Given the description of an element on the screen output the (x, y) to click on. 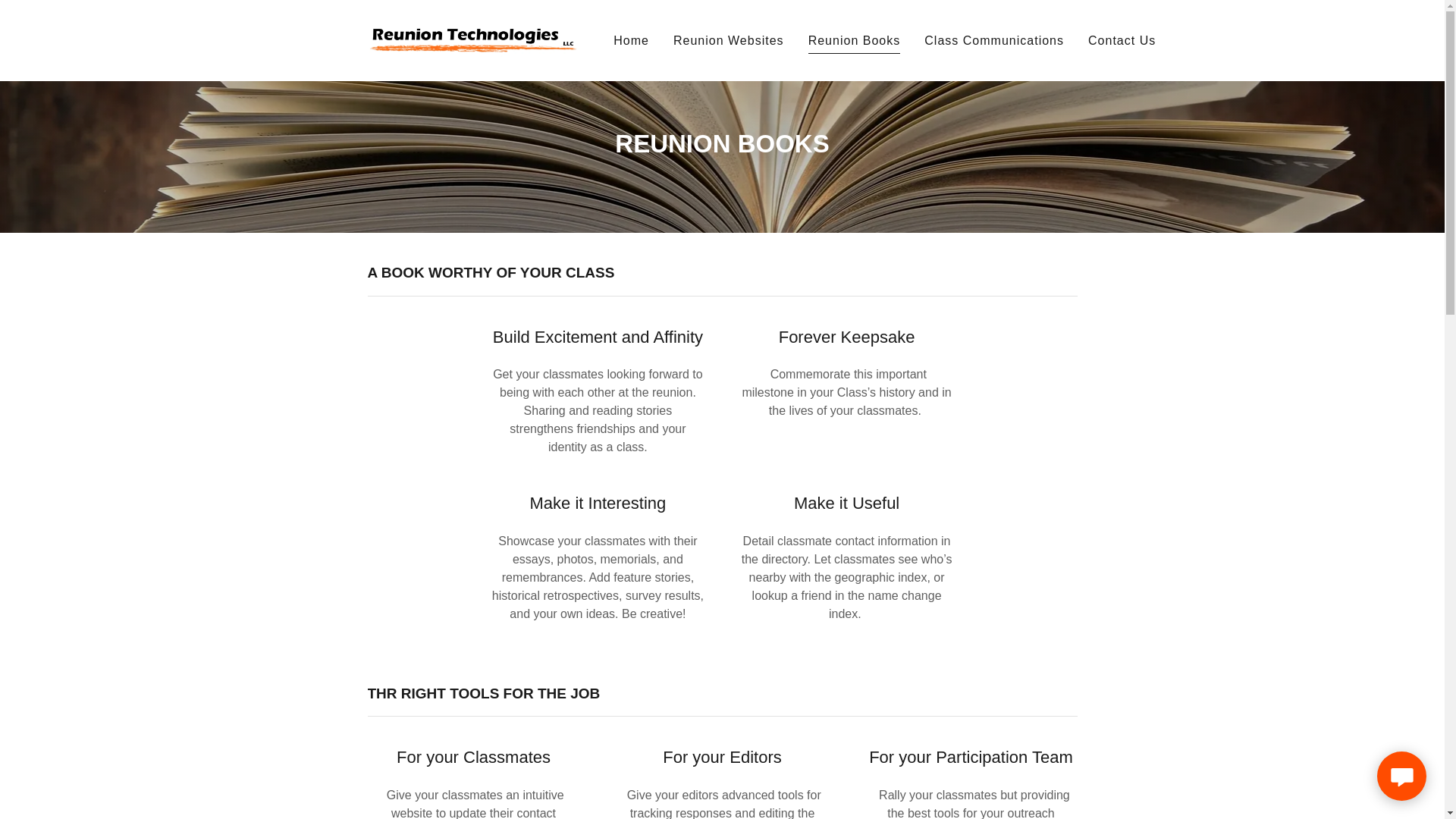
Contact Us (1121, 40)
Reunion Technologies (471, 39)
Home (630, 40)
Reunion Websites (728, 40)
Reunion Books (854, 42)
Class Communications (994, 40)
